Given the description of an element on the screen output the (x, y) to click on. 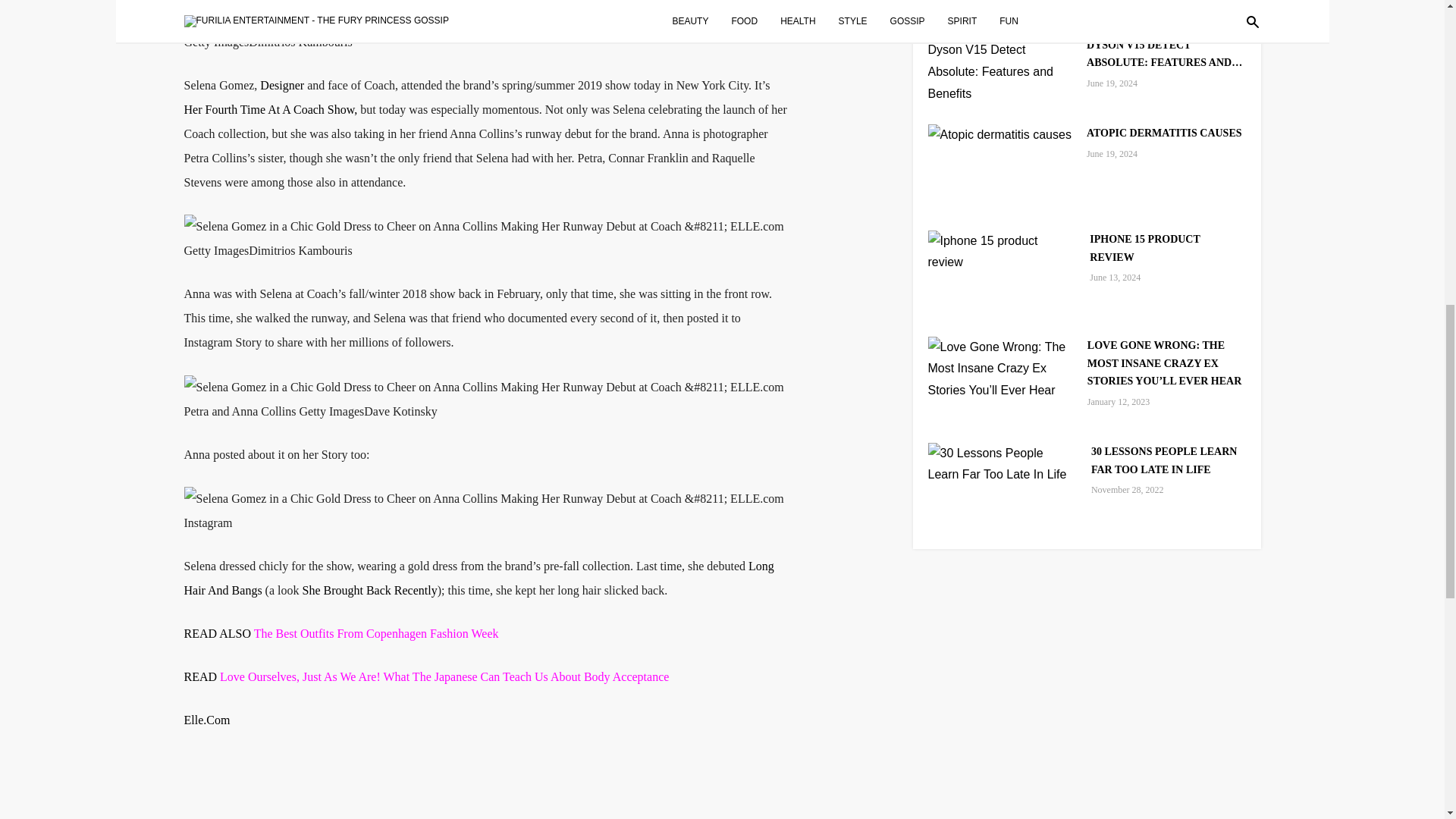
IPHONE 15 PRODUCT REVIEW (1166, 248)
Long Hair And Bangs (478, 578)
Iphone 15 product review (1001, 250)
image (483, 498)
ATOPIC DERMATITIS CAUSES (1163, 133)
She Brought Back Recently (368, 590)
Designer (282, 84)
30 LESSONS PEOPLE LEARN FAR TOO LATE IN LIFE (1168, 461)
Elle.Com (206, 719)
Her Fourth Time At A Coach Show, (269, 109)
30 Lessons People Learn Far Too Late In Life (1001, 463)
